Given the description of an element on the screen output the (x, y) to click on. 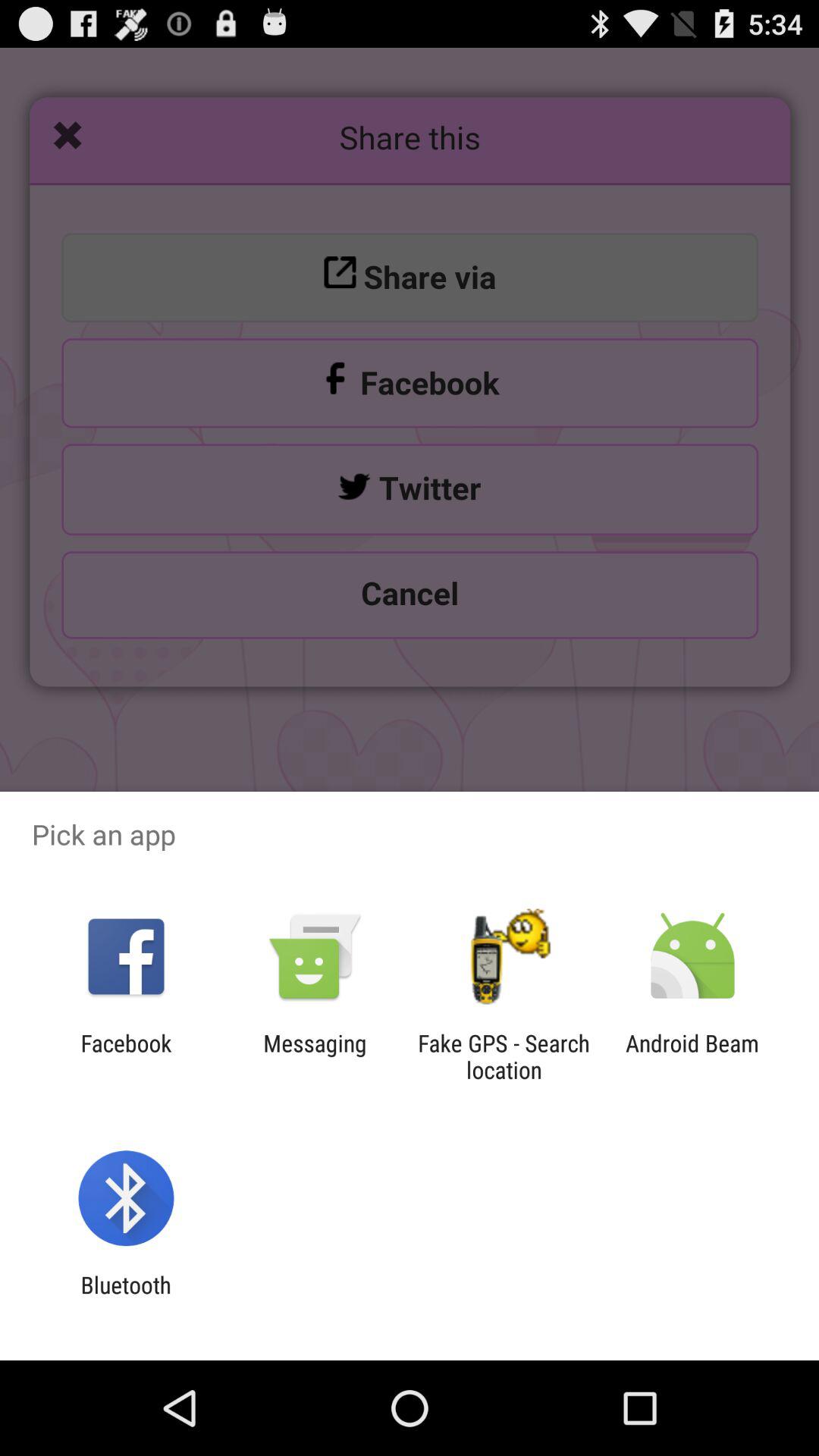
turn on the item to the right of the fake gps search app (692, 1056)
